Given the description of an element on the screen output the (x, y) to click on. 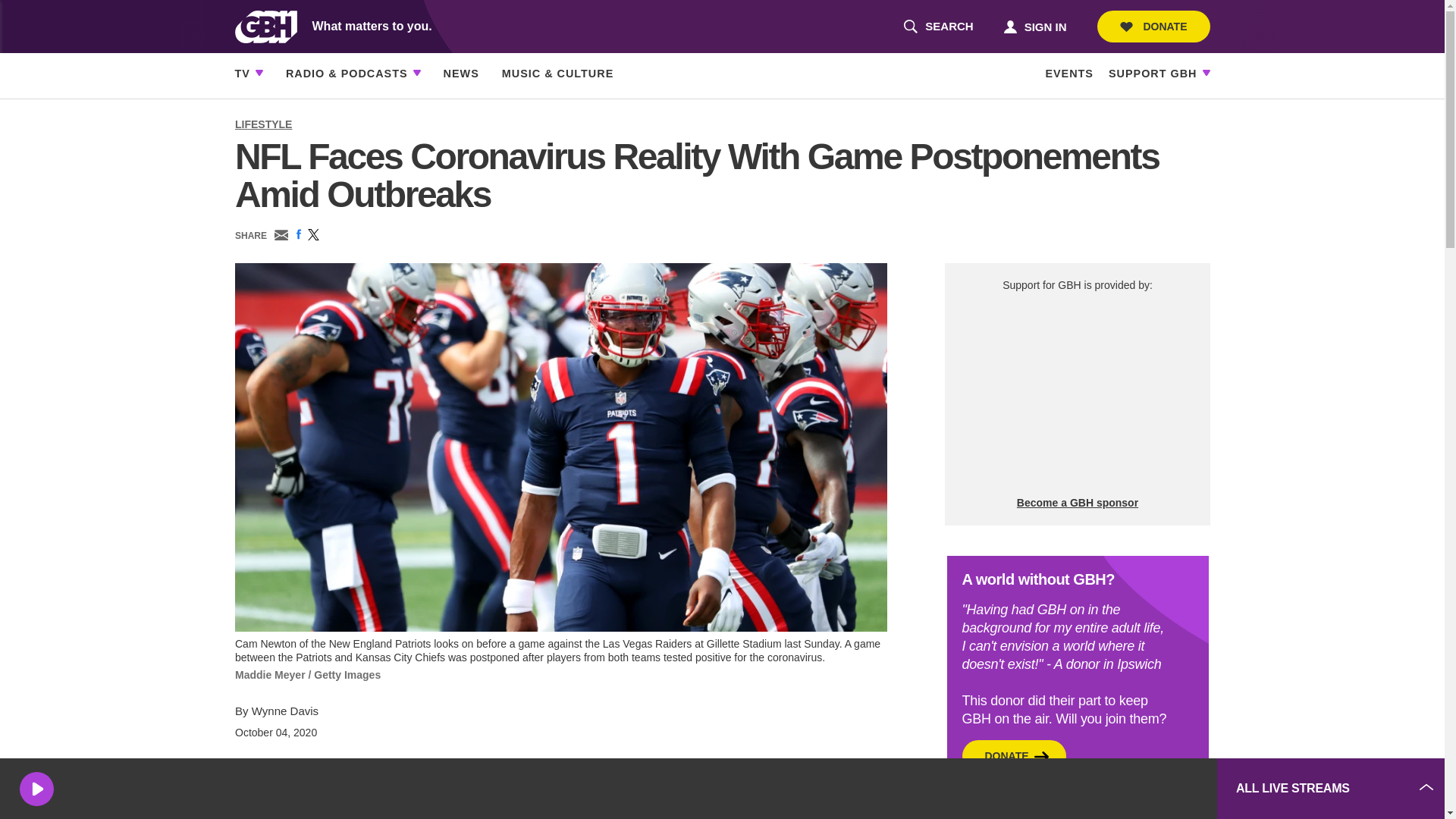
3rd party ad content (937, 26)
3rd party ad content (1076, 393)
SIGN IN (1091, 788)
DONATE (1034, 25)
